Given the description of an element on the screen output the (x, y) to click on. 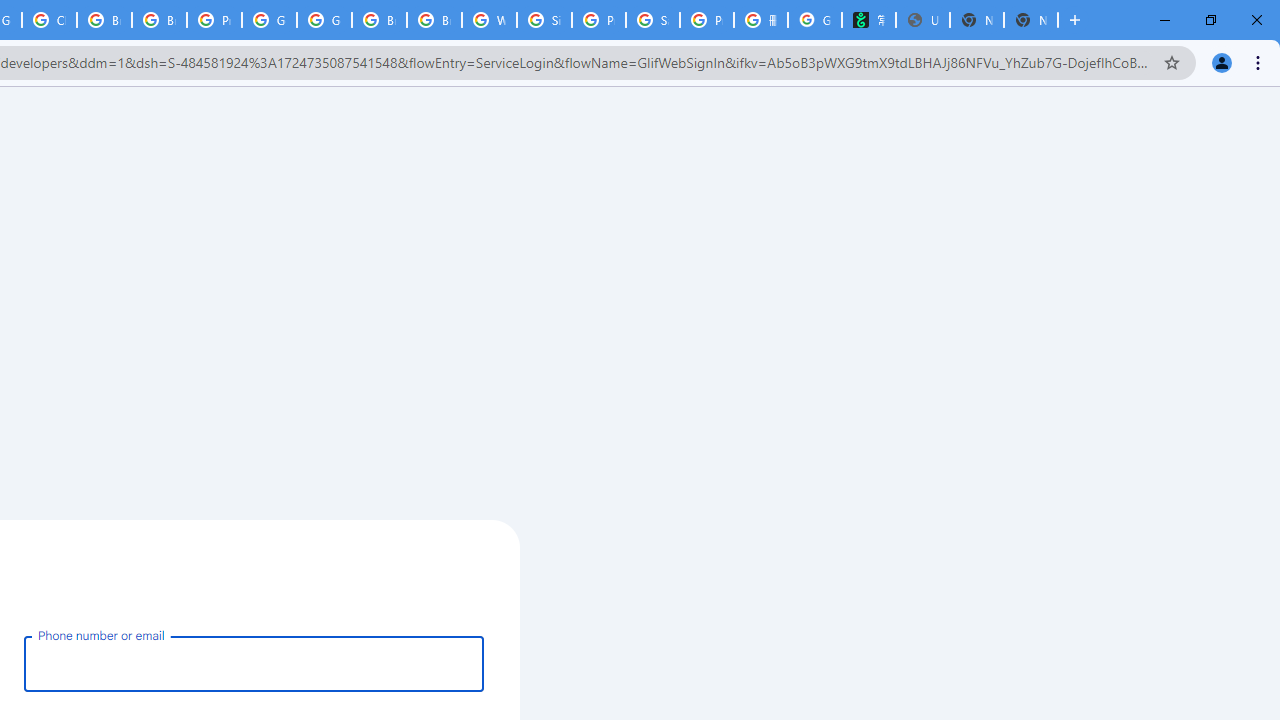
Google Cloud Platform (324, 20)
Browse Chrome as a guest - Computer - Google Chrome Help (158, 20)
New Tab (1030, 20)
Phone number or email (253, 663)
Browse Chrome as a guest - Computer - Google Chrome Help (434, 20)
